Given the description of an element on the screen output the (x, y) to click on. 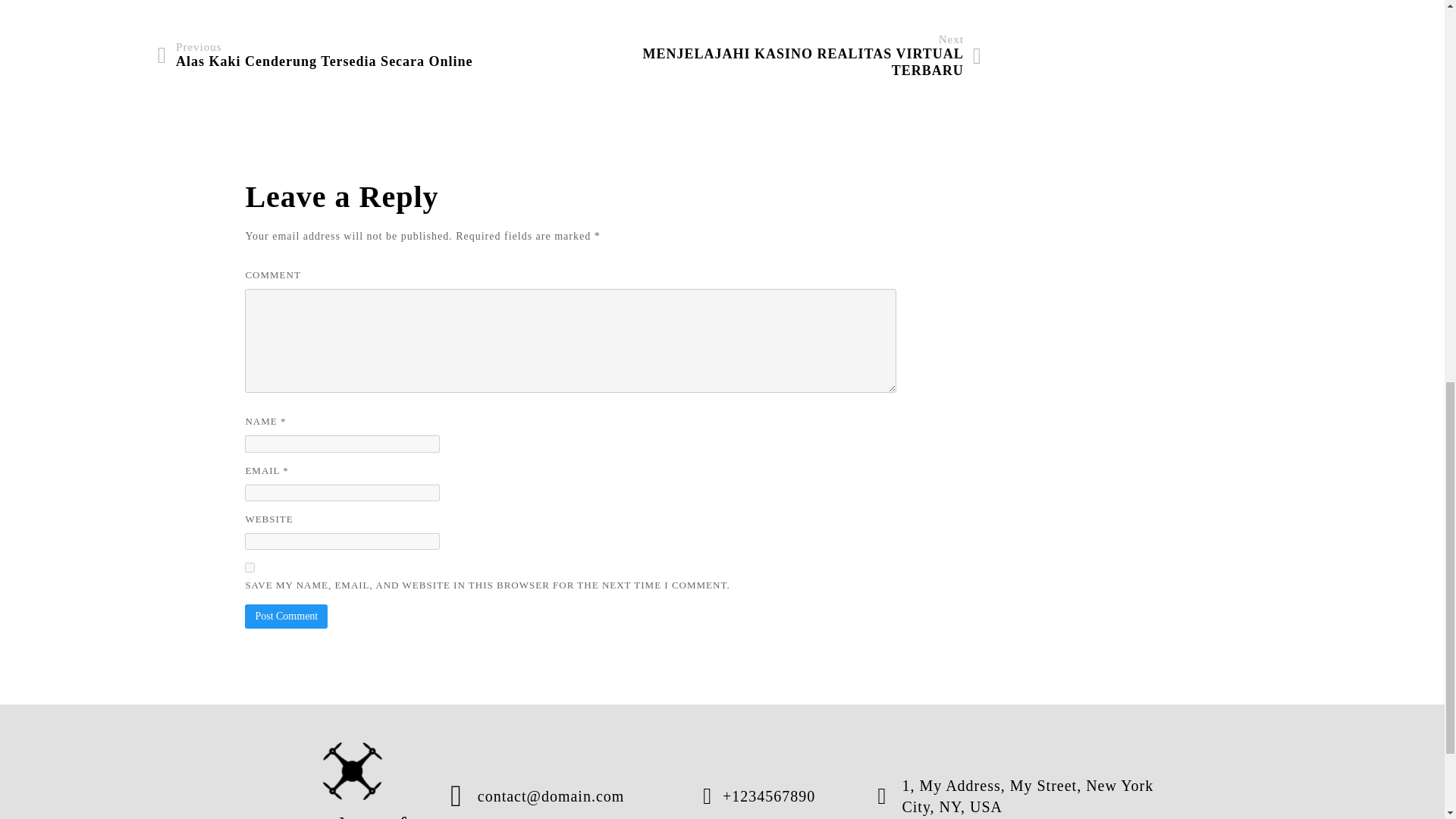
Share on Facebook (786, 2)
fab fa-twitter-square (315, 55)
logo (920, 2)
petalumacf (775, 55)
Share on Twitter (352, 771)
fab fa-facebook-square (352, 780)
Post Comment (920, 2)
Post Comment (786, 2)
yes (285, 616)
